Given the description of an element on the screen output the (x, y) to click on. 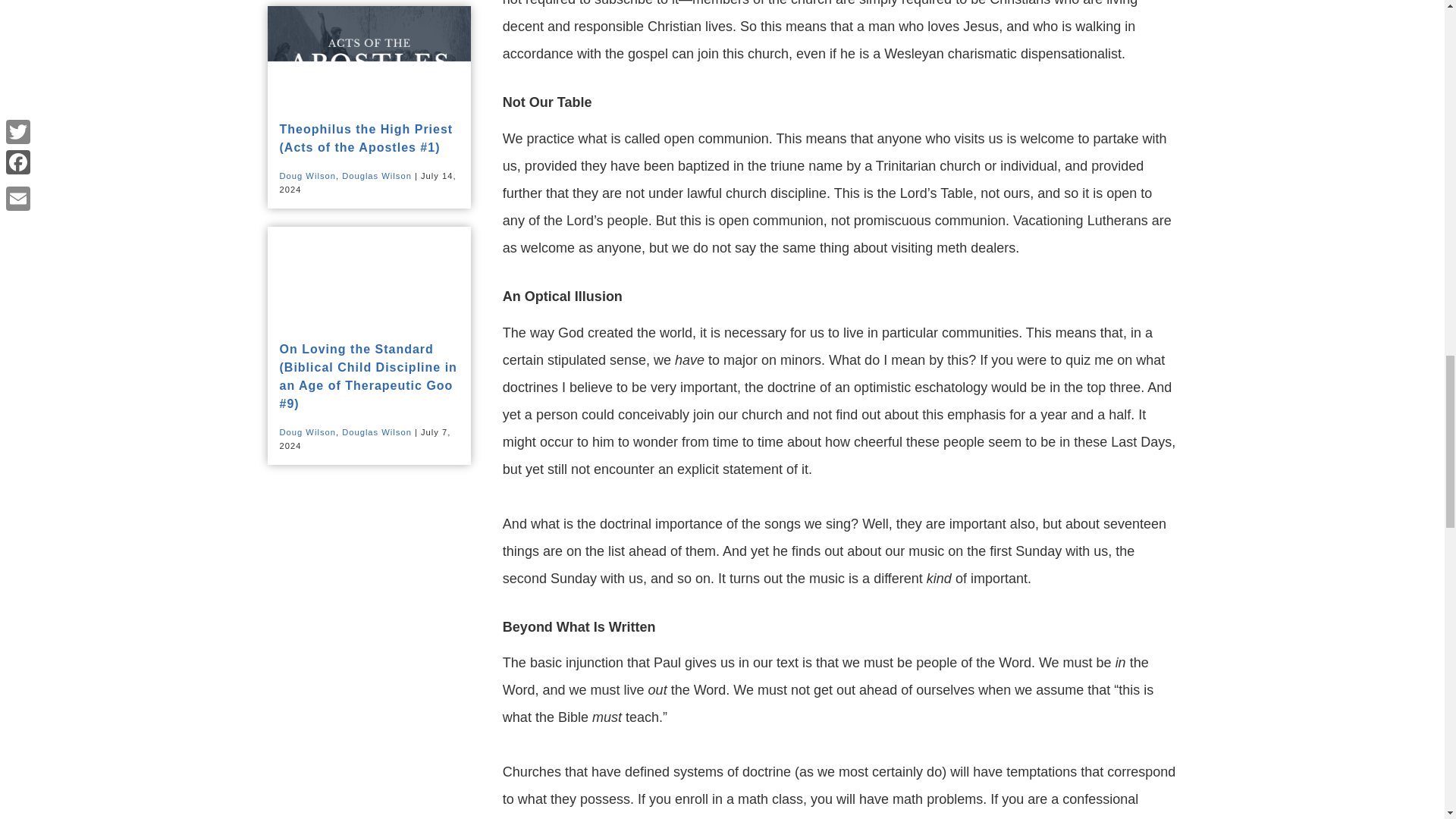
Doug Wilson (306, 431)
Douglas Wilson (377, 175)
Doug Wilson (306, 175)
Douglas Wilson (377, 431)
